Given the description of an element on the screen output the (x, y) to click on. 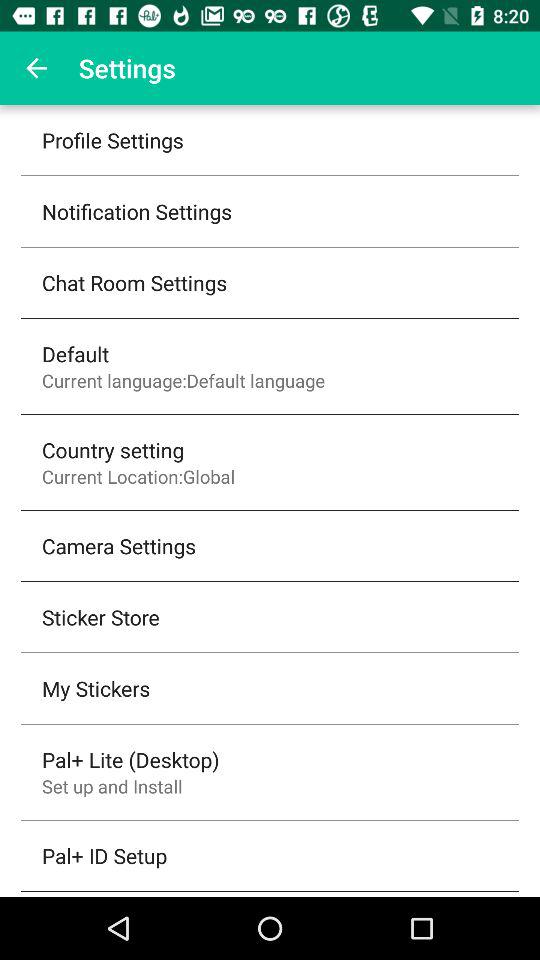
choose the item to the left of the settings item (36, 68)
